Given the description of an element on the screen output the (x, y) to click on. 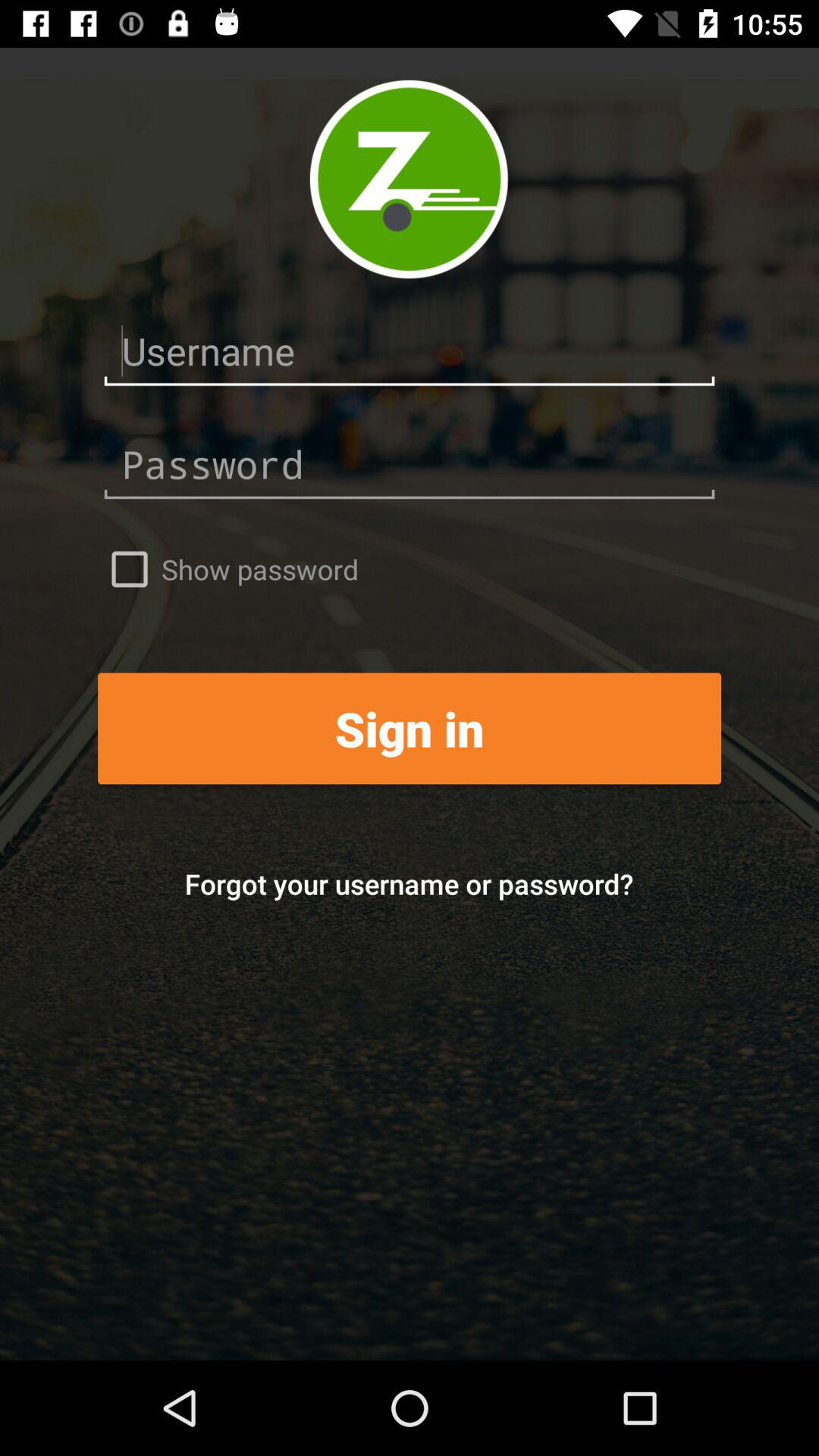
enter password (409, 464)
